Given the description of an element on the screen output the (x, y) to click on. 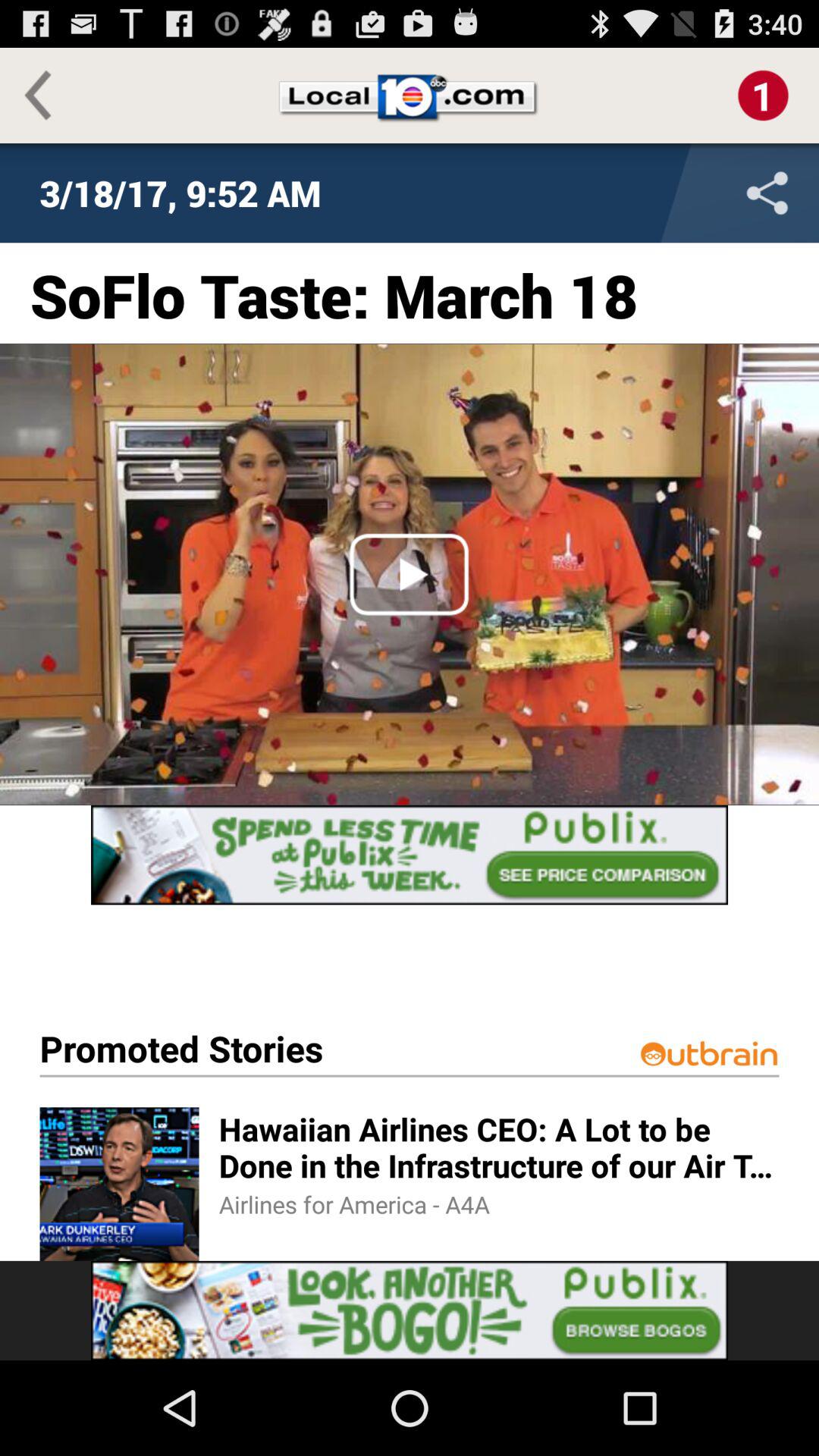
click to watch video (409, 574)
